Given the description of an element on the screen output the (x, y) to click on. 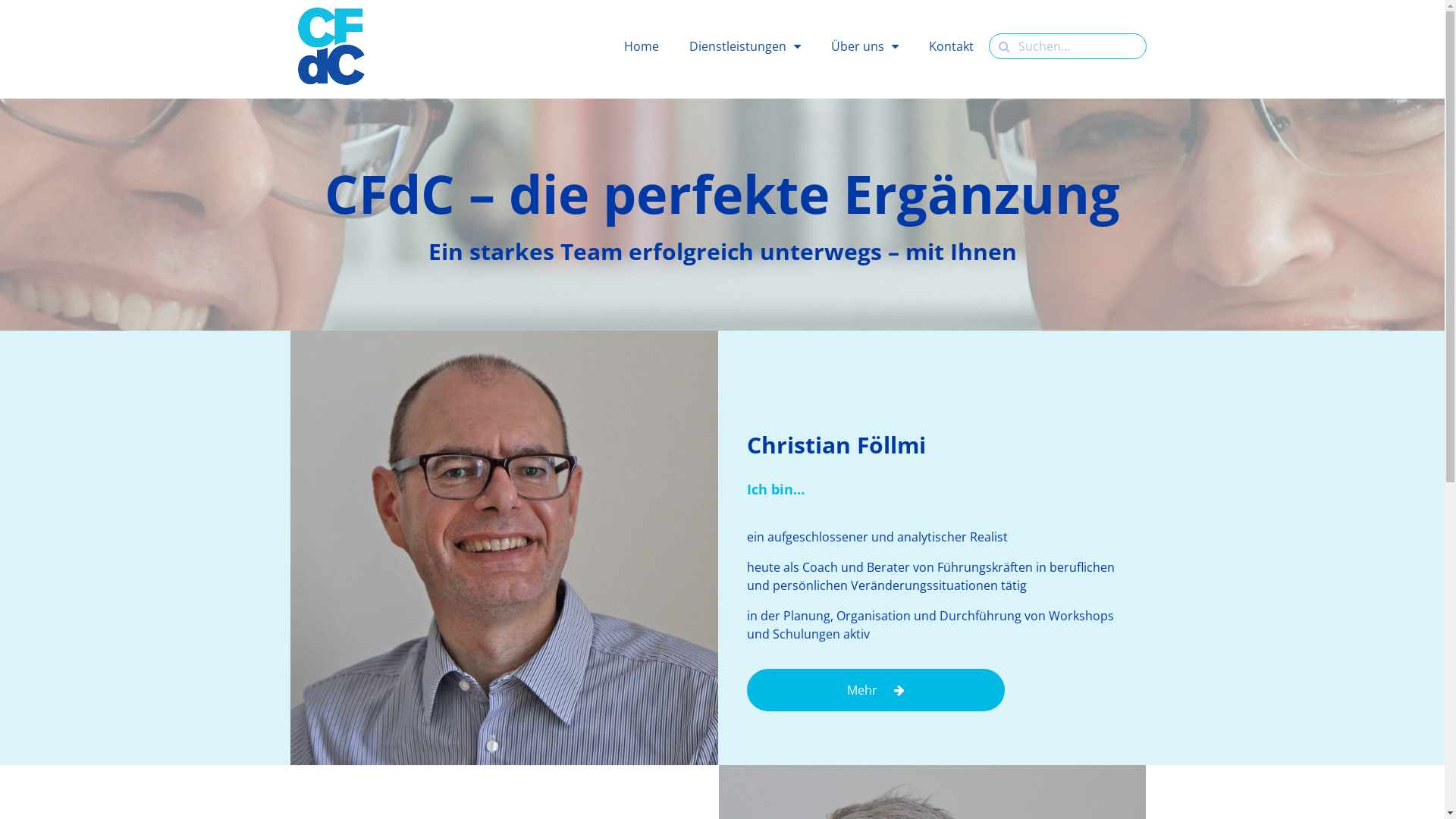
Kontakt Element type: text (950, 46)
Mehr Element type: text (875, 689)
Search Element type: hover (1078, 46)
Home Element type: text (641, 46)
Dienstleistungen Element type: text (744, 46)
